Given the description of an element on the screen output the (x, y) to click on. 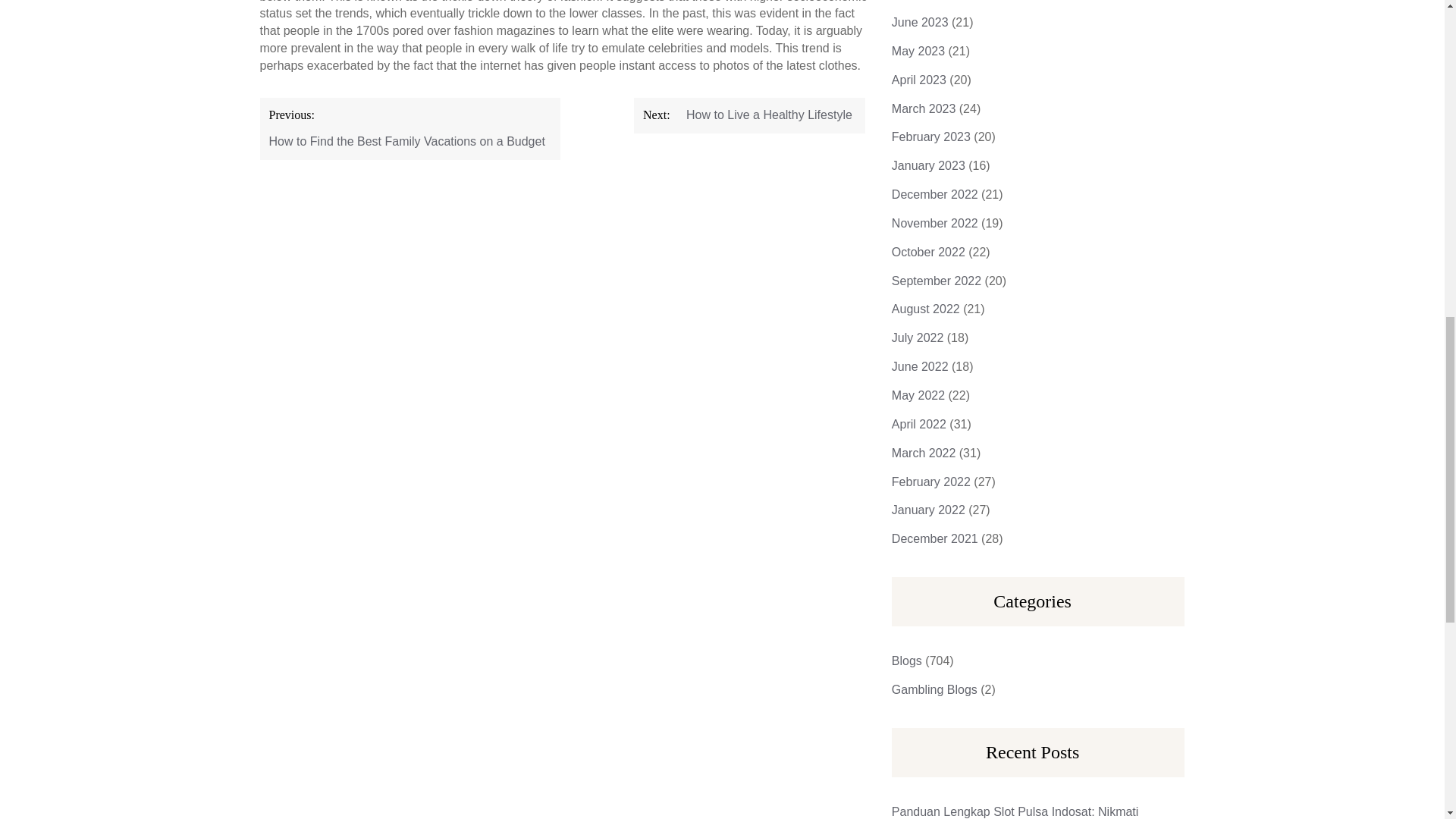
January 2023 (928, 164)
May 2023 (917, 51)
Previous: How to Find the Best Family Vacations on a Budget (409, 128)
Next: How to Live a Healthy Lifestyle (748, 115)
June 2023 (920, 21)
February 2023 (931, 136)
October 2022 (928, 251)
April 2023 (918, 79)
March 2023 (923, 108)
December 2022 (934, 194)
